Given the description of an element on the screen output the (x, y) to click on. 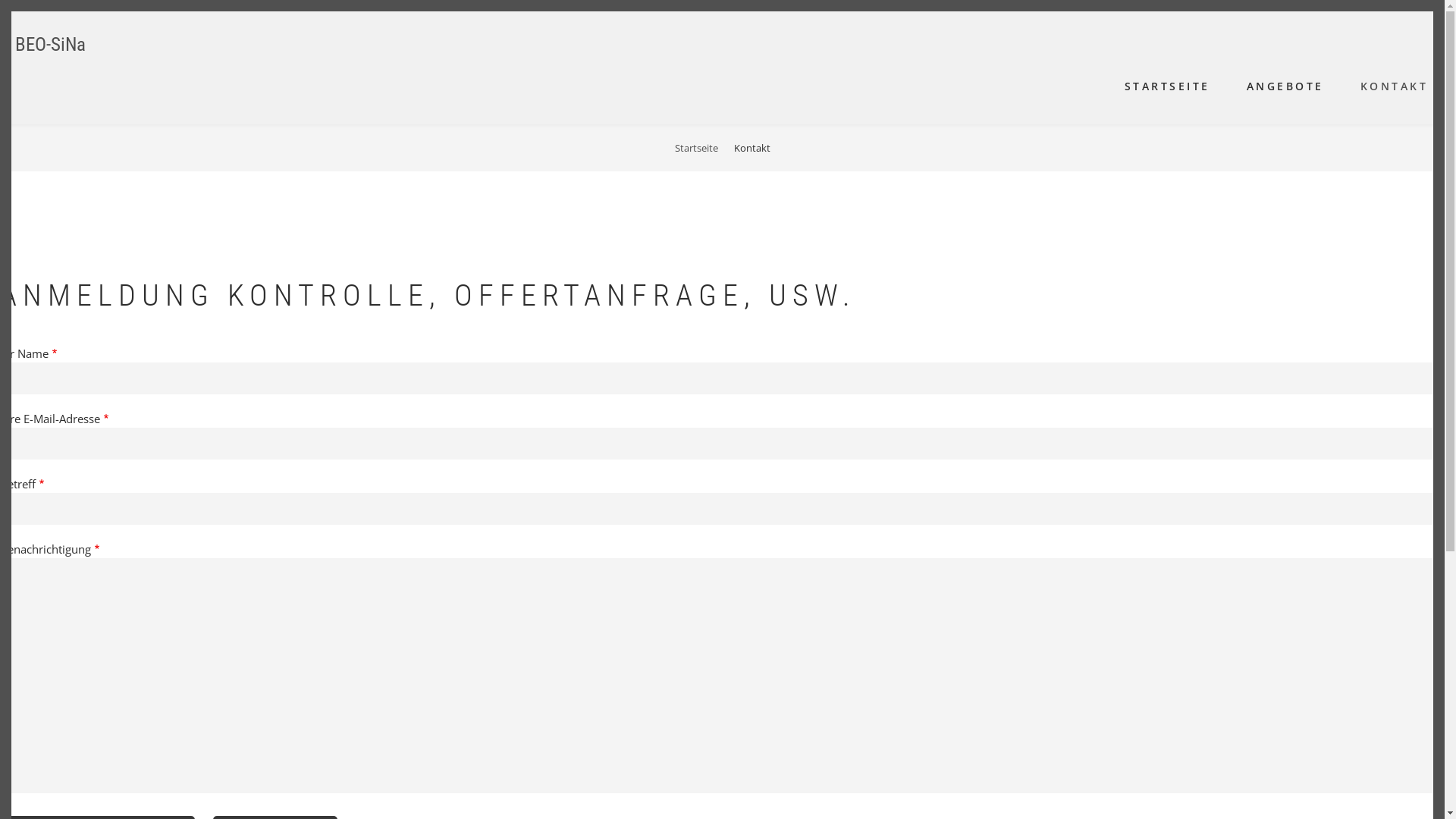
BEO-SiNa Element type: text (50, 44)
STARTSEITE Element type: text (1167, 85)
Startseite Element type: text (696, 147)
ANGEBOTE Element type: text (1284, 85)
KONTAKT Element type: text (1393, 85)
Direkt zum Inhalt Element type: text (0, 0)
